Given the description of an element on the screen output the (x, y) to click on. 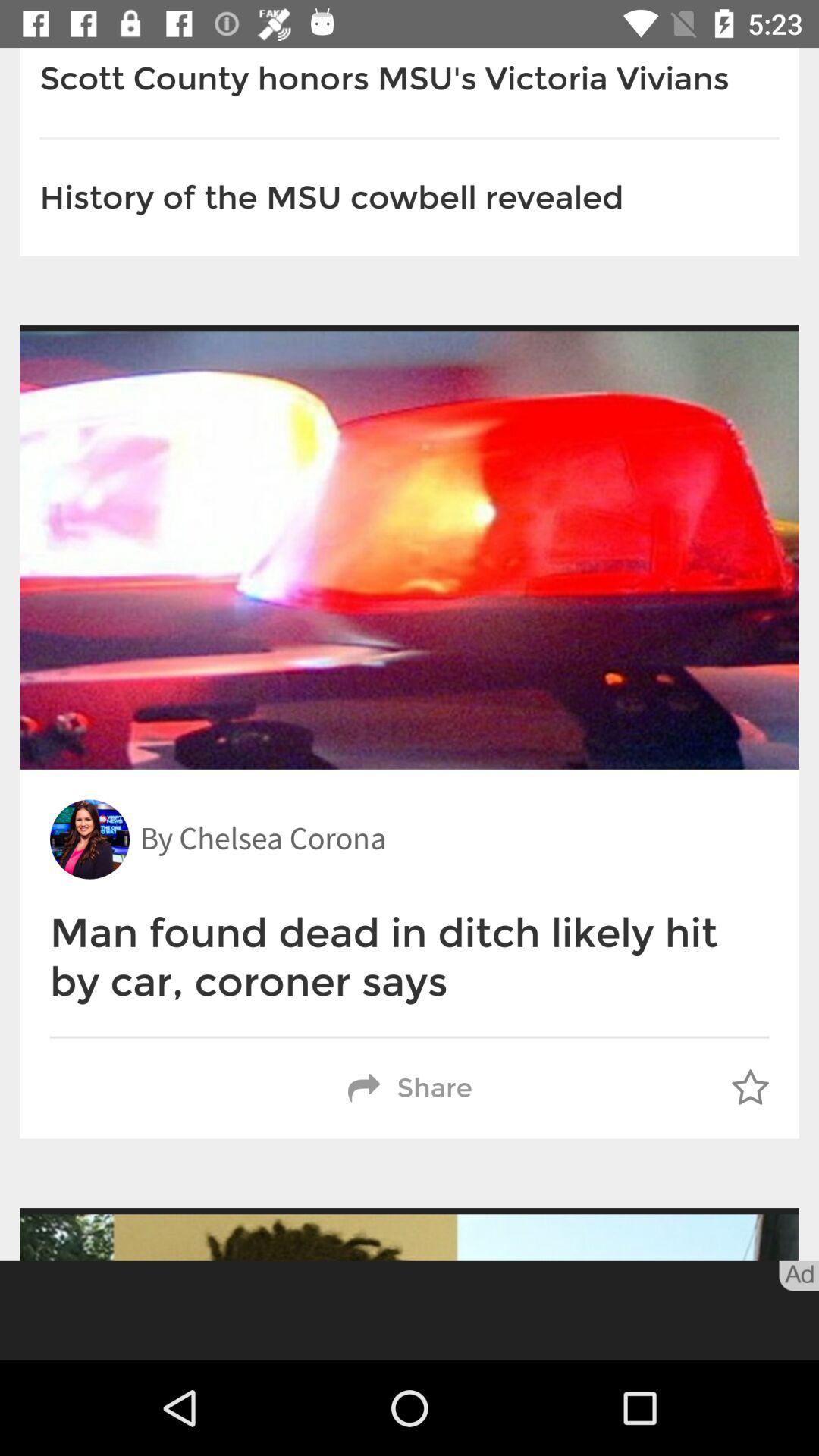
open the by chelsea corona (262, 839)
